Given the description of an element on the screen output the (x, y) to click on. 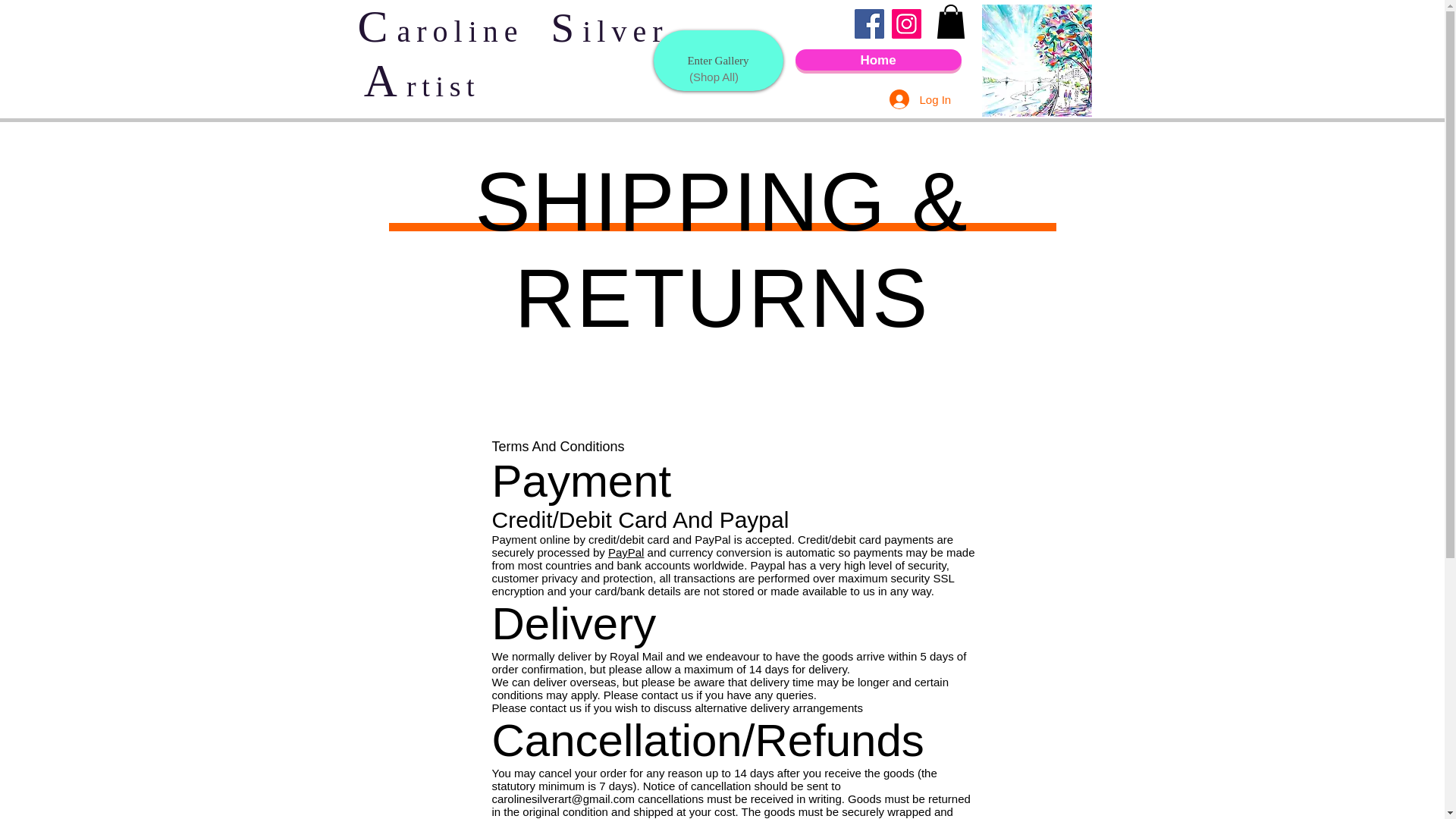
line  (495, 30)
Enter Gallery (718, 60)
Log In (908, 99)
Home (877, 59)
PayPal (626, 552)
aro (425, 30)
rtist (443, 86)
ilver (625, 30)
